Given the description of an element on the screen output the (x, y) to click on. 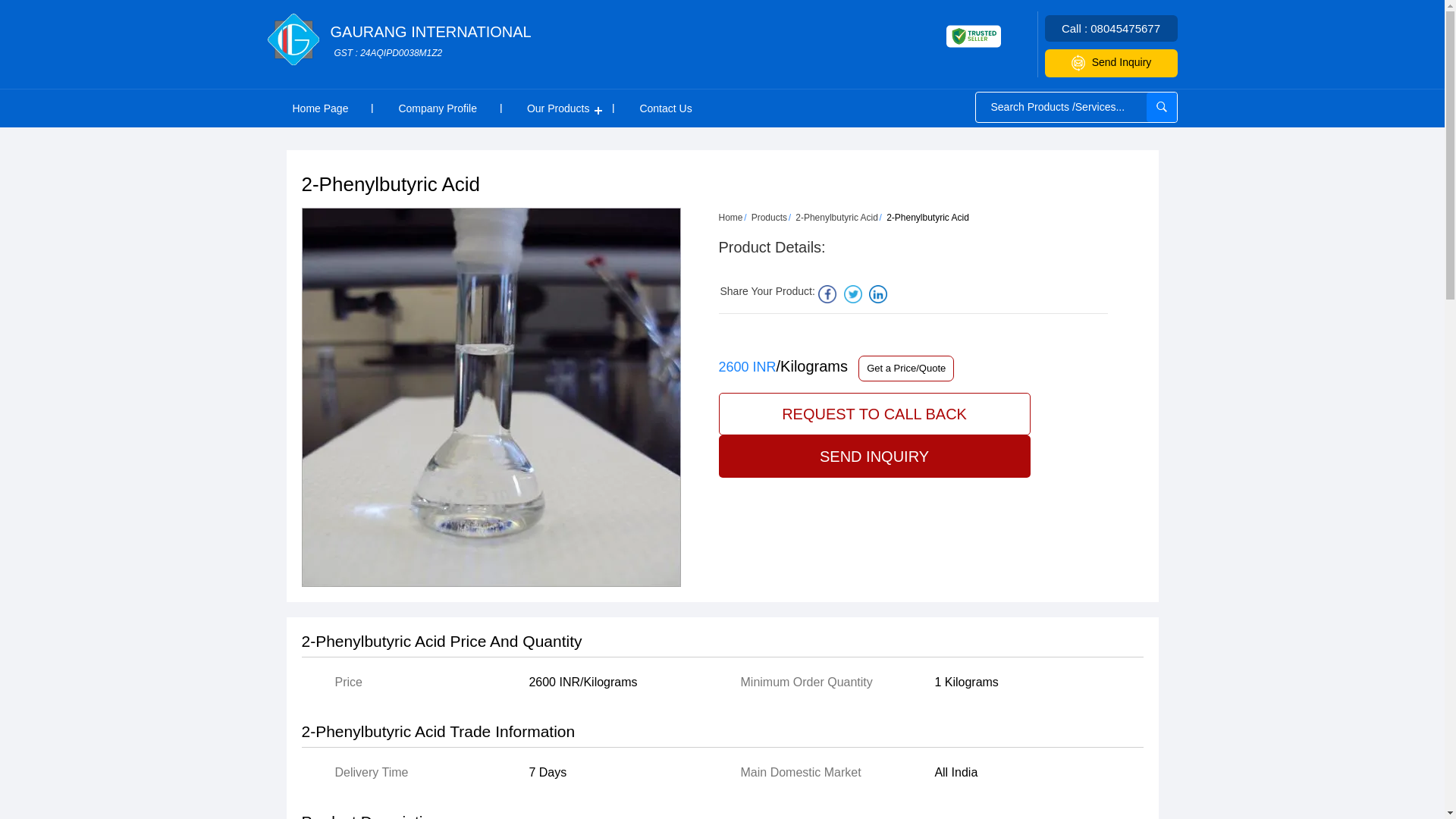
Company Profile (437, 108)
Products (430, 40)
Home Page (769, 217)
Home (319, 108)
Send Inquiry (730, 217)
2-Phenylbutyric Acid (1111, 62)
Our Products (835, 217)
REQUEST TO CALL BACK (558, 108)
SEND INQUIRY (874, 413)
